Given the description of an element on the screen output the (x, y) to click on. 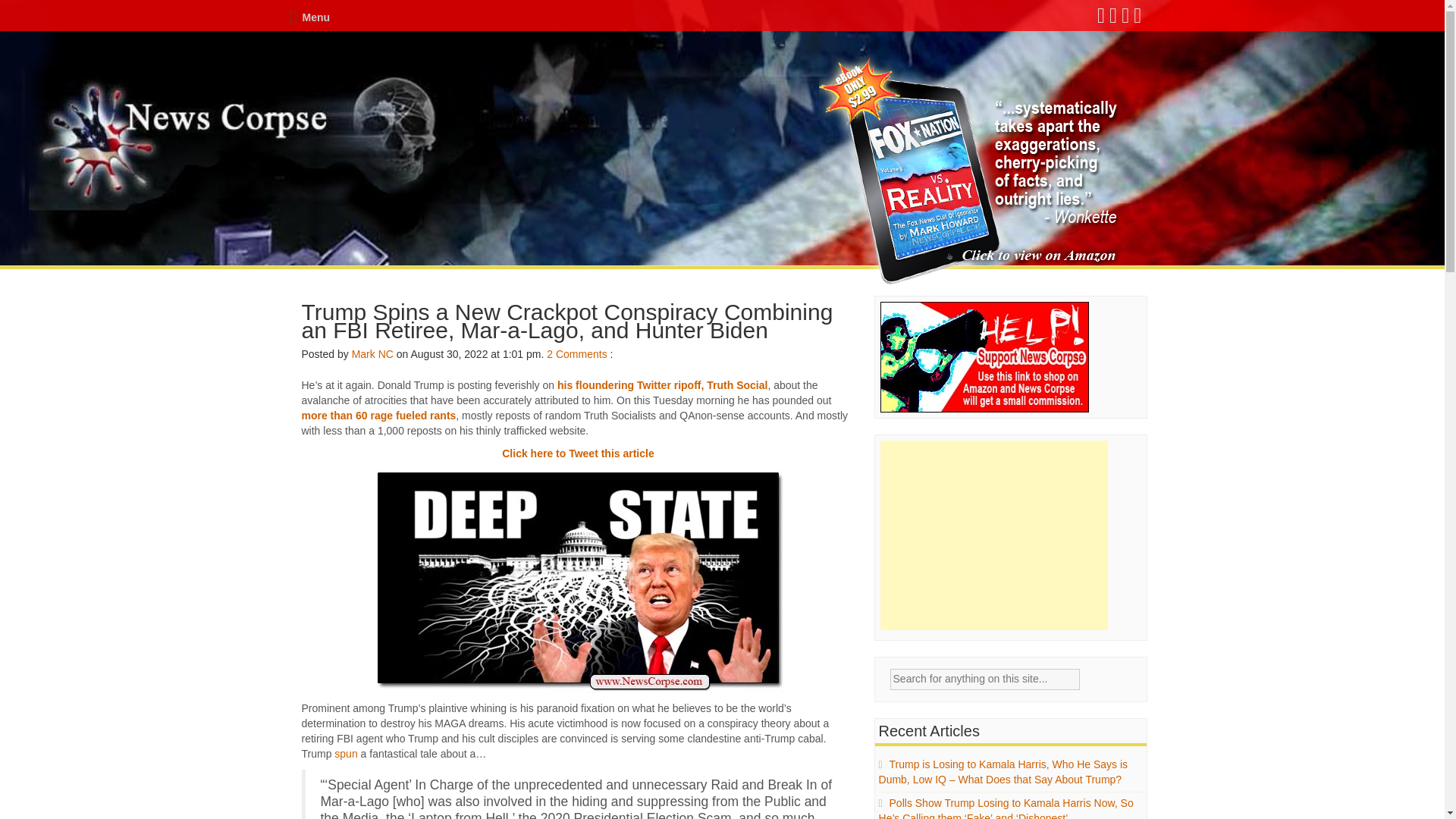
Comments (581, 354)
Posts by Mark NC (372, 354)
his floundering Twitter ripoff, Truth Social (662, 385)
Click here to Tweet this article (577, 453)
spun (345, 753)
more than 60 rage fueled rants (379, 415)
Mark NC (372, 354)
Menu (309, 17)
Fox Nation vs. Reality (971, 170)
